Given the description of an element on the screen output the (x, y) to click on. 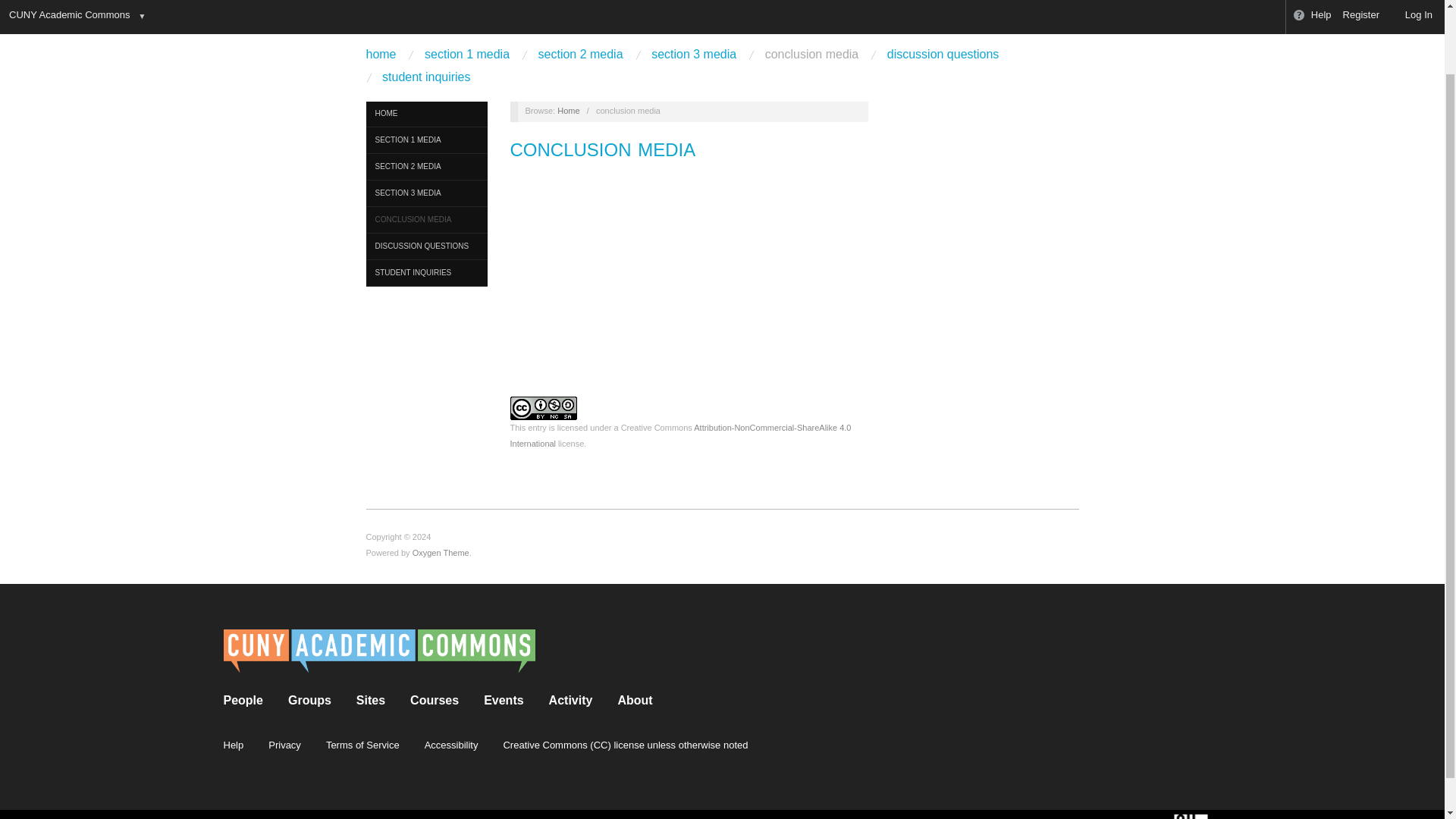
CONCLUSION MEDIA (425, 220)
section 2 media (580, 53)
SECTION 3 MEDIA (425, 193)
STUDENT INQUIRIES (425, 273)
student inquiries (425, 76)
SECTION 1 MEDIA (425, 140)
SECTION 2 MEDIA (425, 166)
CONCLUSION MEDIA (603, 149)
Oxygen Theme (440, 552)
HOME (425, 113)
